Given the description of an element on the screen output the (x, y) to click on. 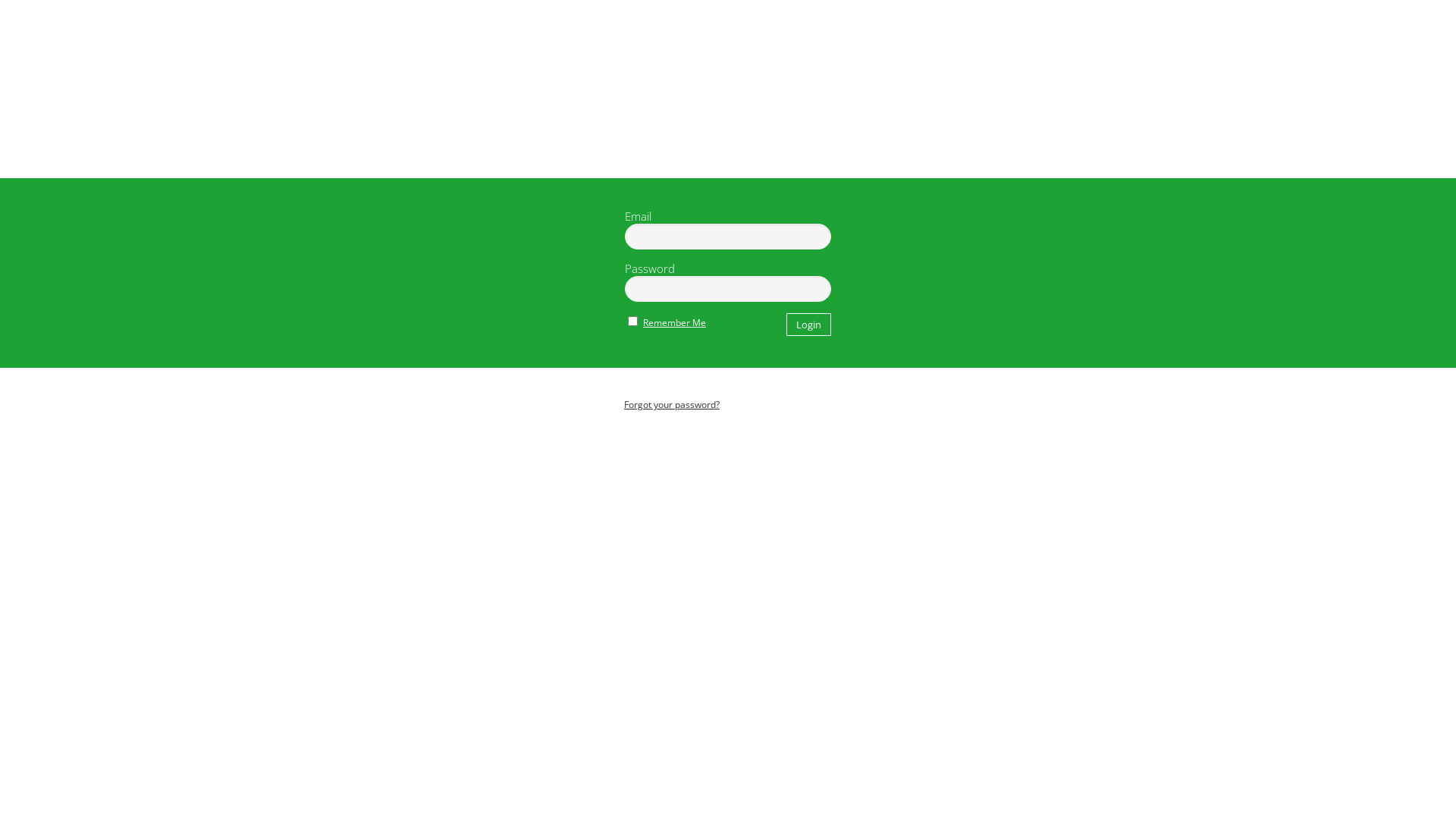
Login Element type: text (808, 324)
Intrax Element type: hover (727, 120)
  Element type: text (727, 120)
Forgot your password? Element type: text (662, 404)
Remember Me Element type: text (674, 322)
